Given the description of an element on the screen output the (x, y) to click on. 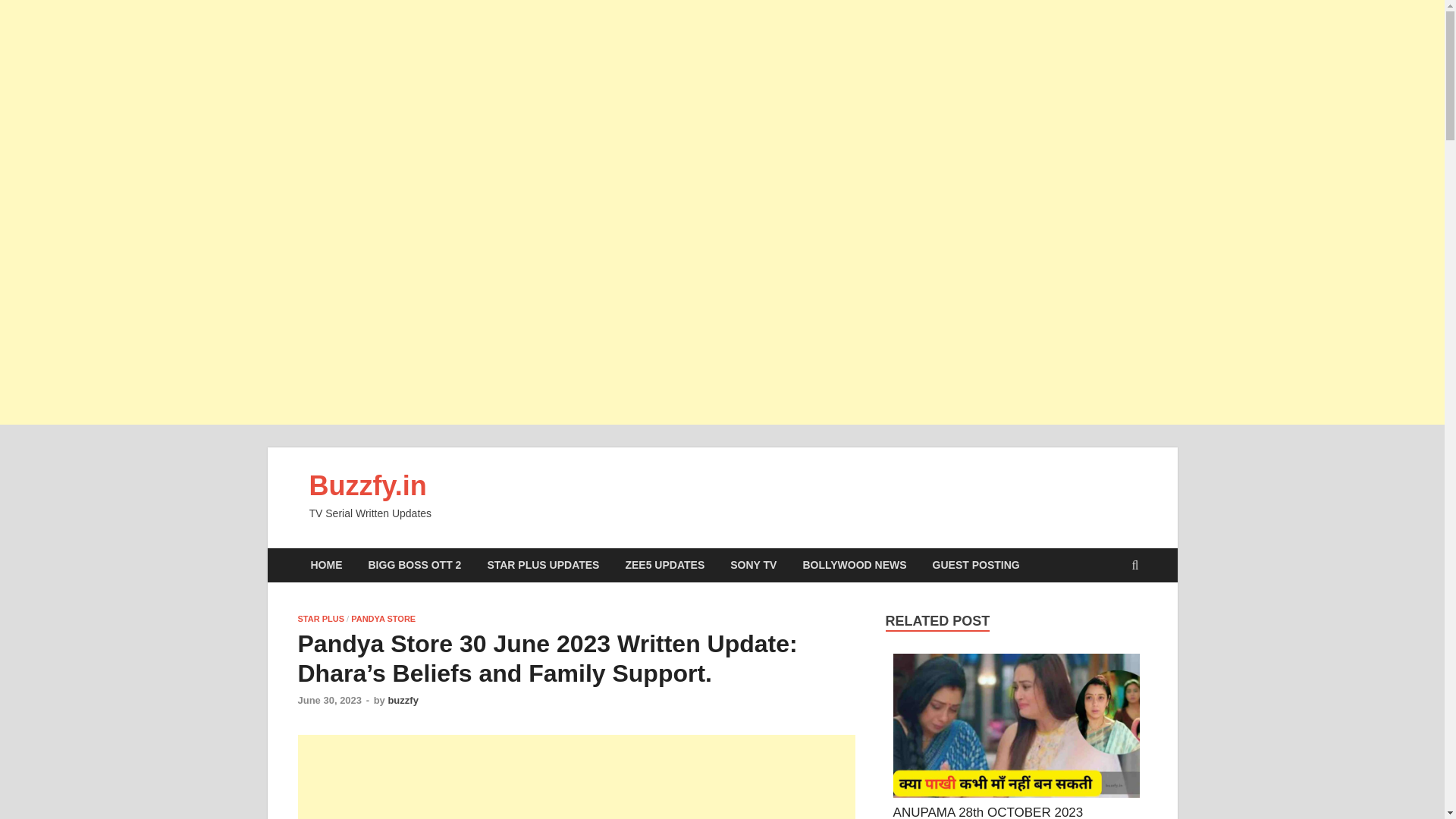
buzzfy (402, 699)
STAR PLUS UPDATES (542, 564)
BIGG BOSS OTT 2 (414, 564)
HOME (326, 564)
PANDYA STORE (382, 618)
June 30, 2023 (329, 699)
SONY TV (753, 564)
Advertisement (575, 776)
ZEE5 UPDATES (664, 564)
GUEST POSTING (976, 564)
BOLLYWOOD NEWS (853, 564)
STAR PLUS (320, 618)
Buzzfy.in (367, 485)
